Given the description of an element on the screen output the (x, y) to click on. 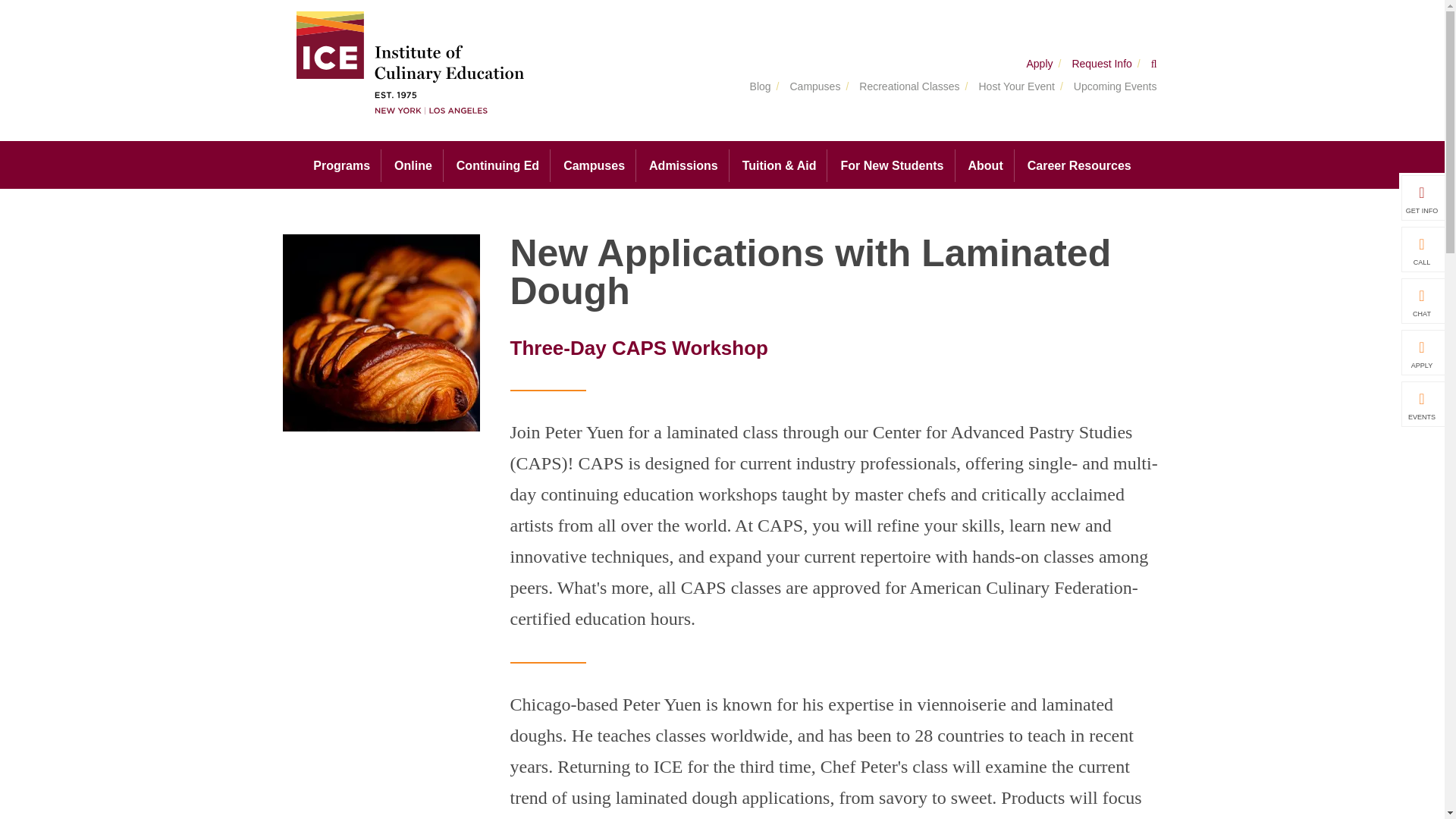
Continuing Ed (497, 165)
Programs (341, 164)
Online (412, 165)
Campuses (594, 165)
Admissions (683, 165)
